Given the description of an element on the screen output the (x, y) to click on. 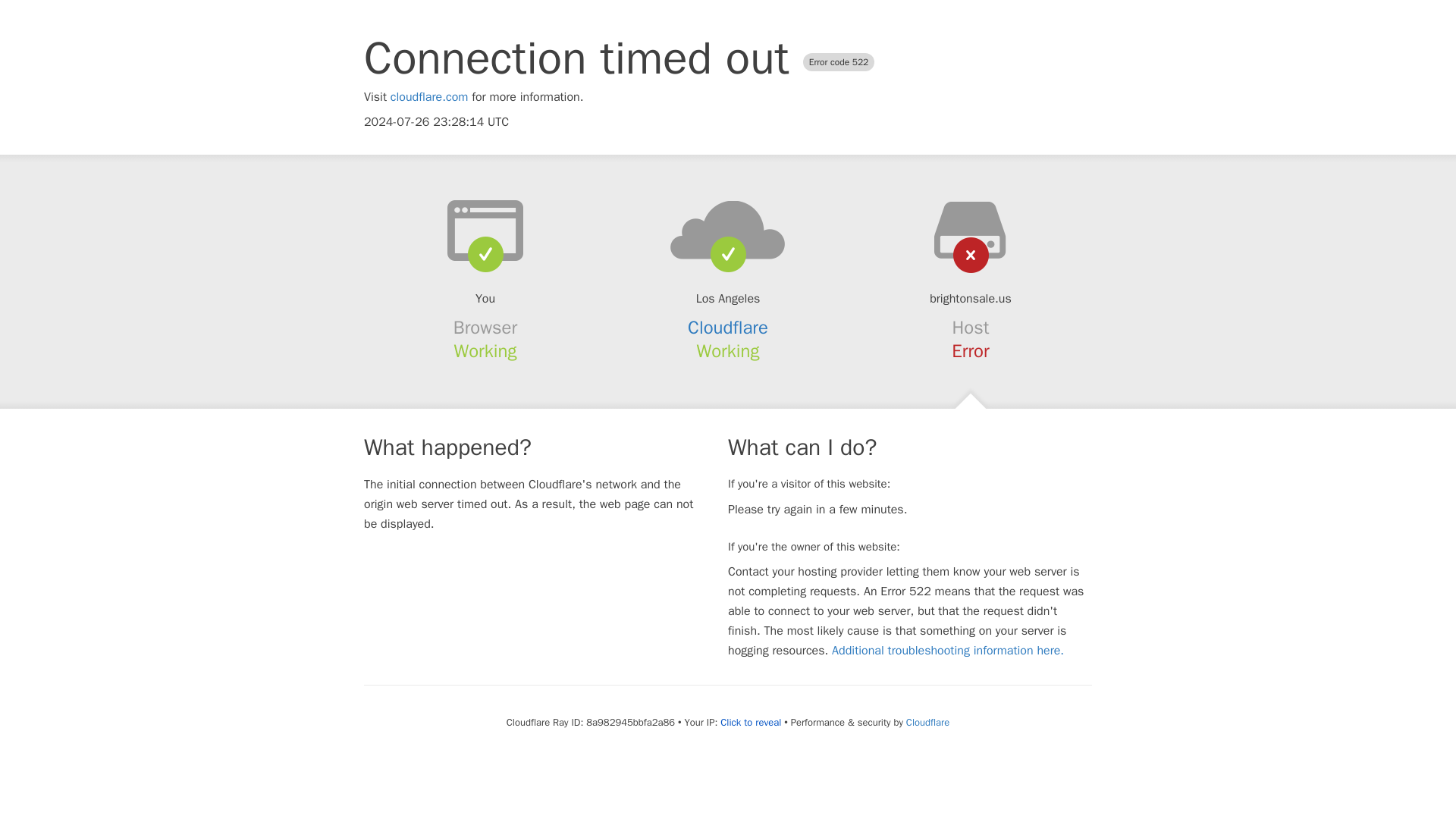
Click to reveal (750, 722)
Additional troubleshooting information here. (947, 650)
Cloudflare (927, 721)
cloudflare.com (429, 96)
Cloudflare (727, 327)
